Given the description of an element on the screen output the (x, y) to click on. 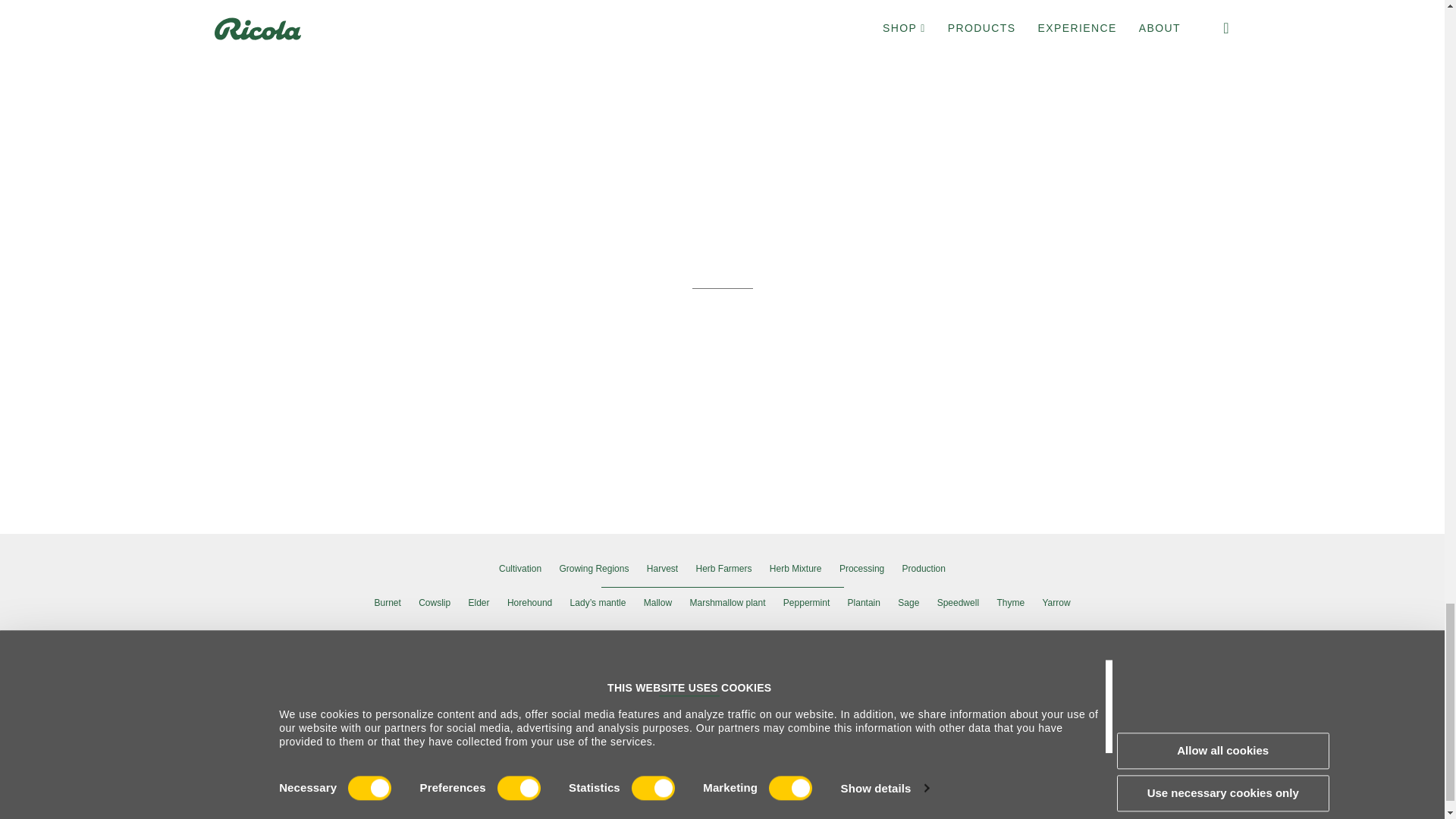
Growing Regions (593, 568)
Cultivation (520, 568)
Harvest (662, 568)
